Given the description of an element on the screen output the (x, y) to click on. 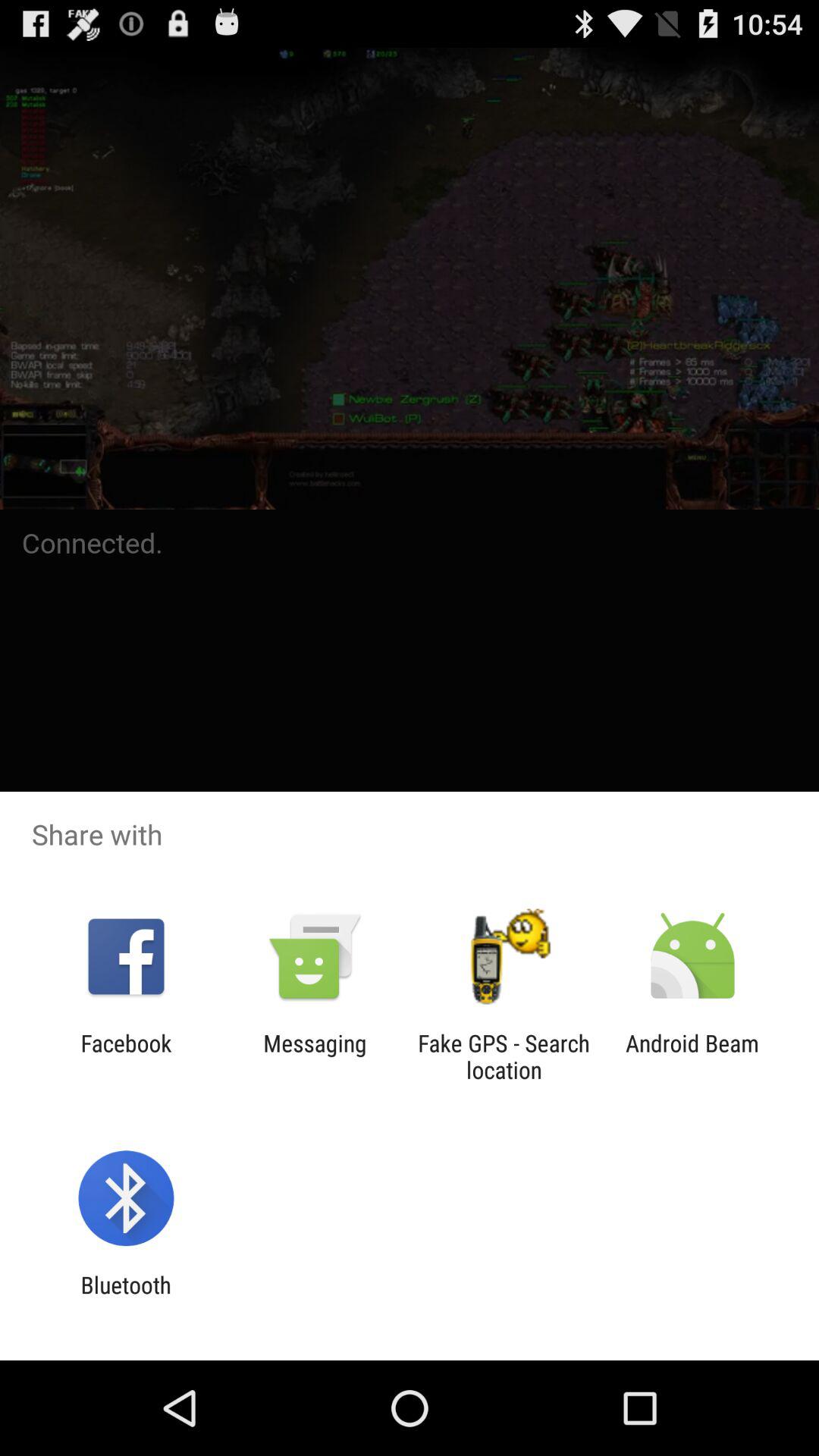
launch the icon next to the fake gps search (692, 1056)
